Given the description of an element on the screen output the (x, y) to click on. 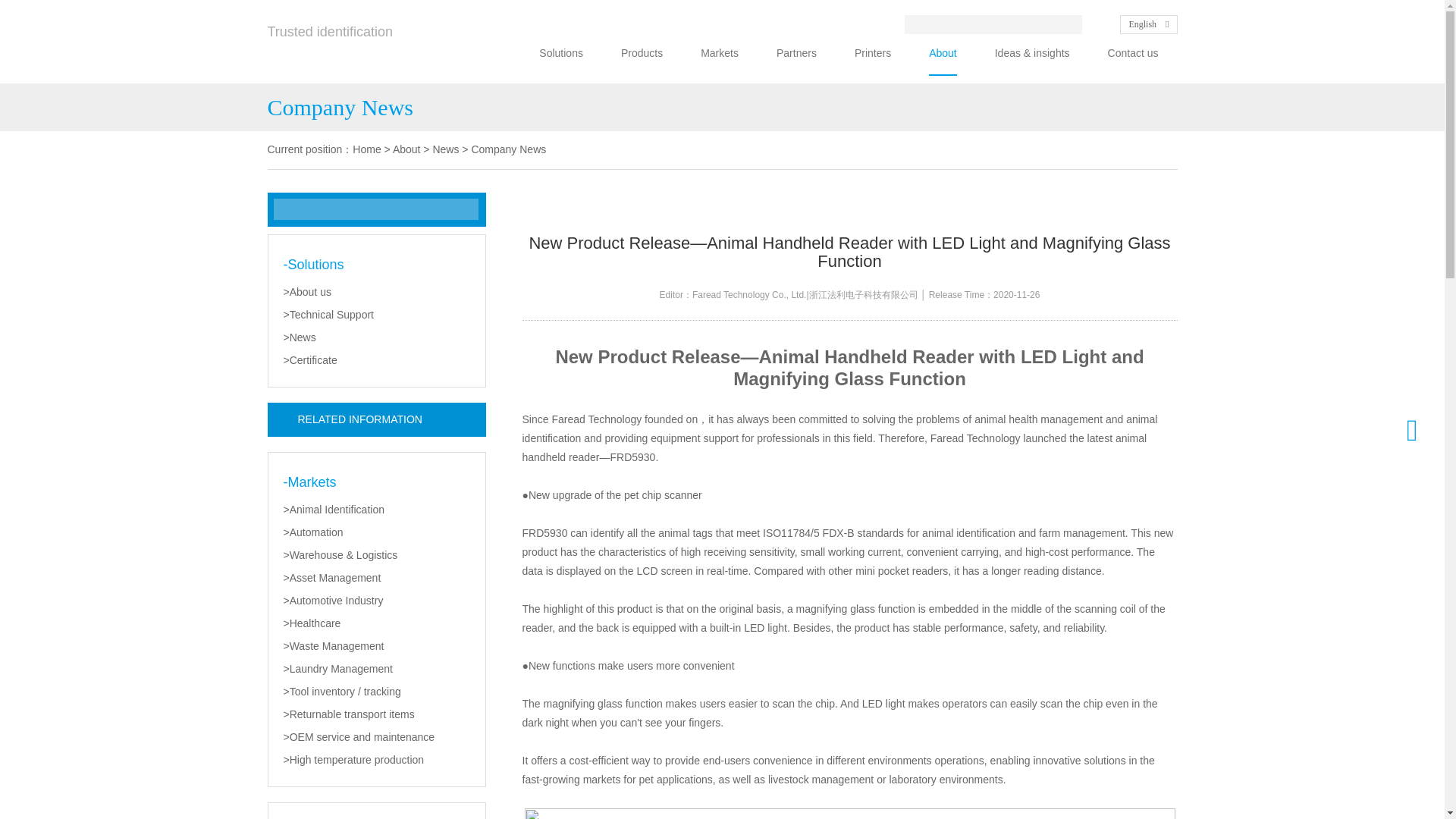
English     (1147, 24)
Products (641, 52)
Solutions (560, 52)
Trusted identification (328, 39)
